Given the description of an element on the screen output the (x, y) to click on. 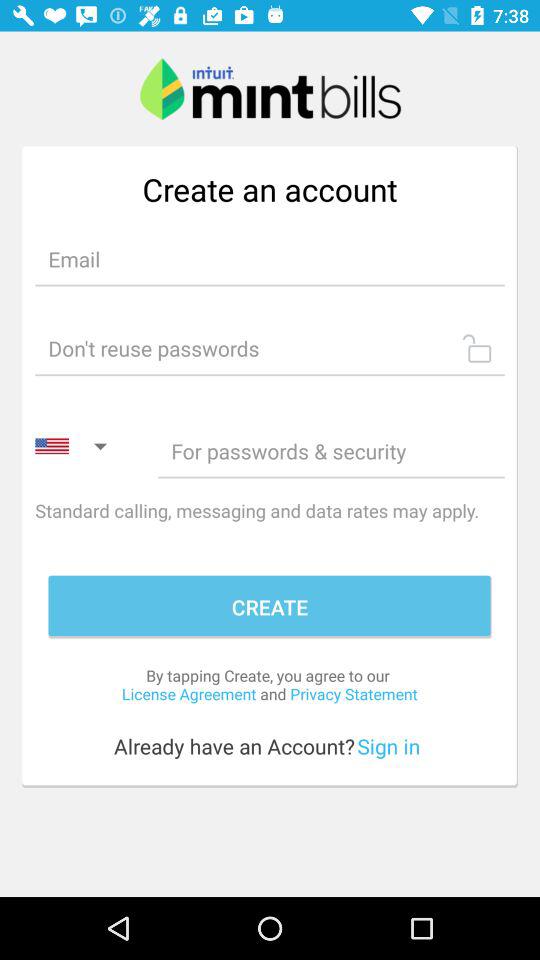
edit selection (269, 258)
